Given the description of an element on the screen output the (x, y) to click on. 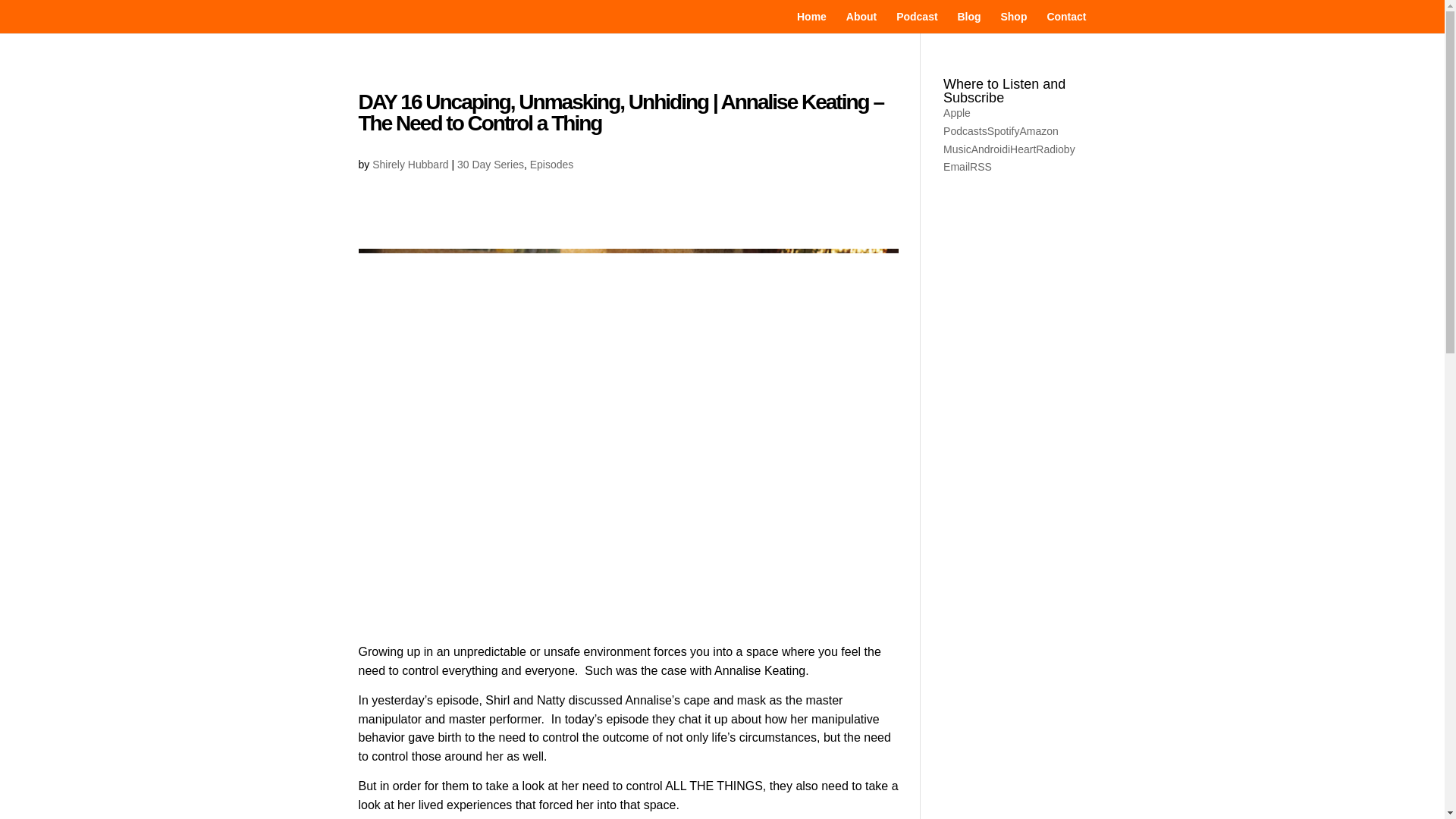
Spotify (1003, 131)
Subscribe on Android (989, 149)
30 Day Series (490, 163)
Shop (1013, 22)
Shirely Hubbard (410, 163)
Subscribe on iHeartRadio (1035, 149)
Subscribe via RSS (980, 166)
Subscribe on Spotify (1003, 131)
About (860, 22)
